Given the description of an element on the screen output the (x, y) to click on. 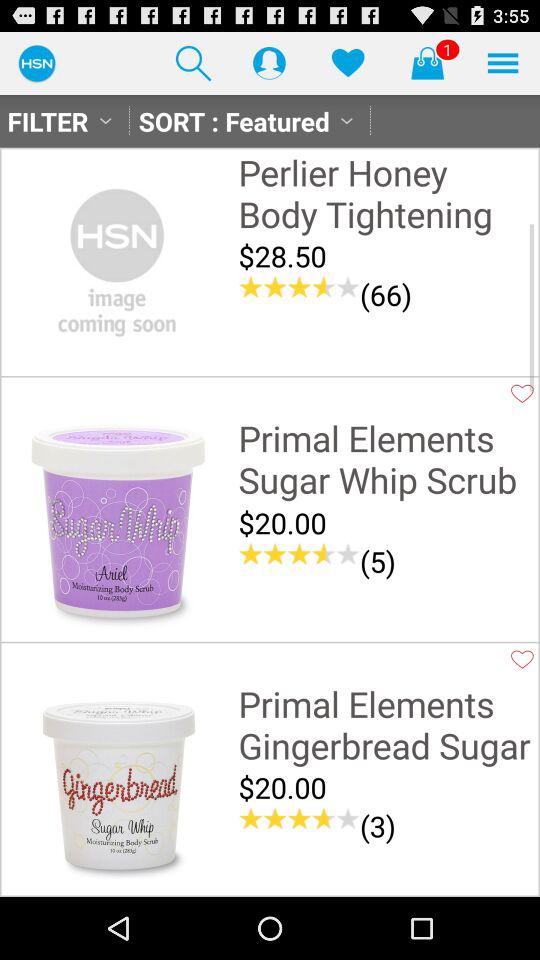
adding cart option (427, 62)
